Given the description of an element on the screen output the (x, y) to click on. 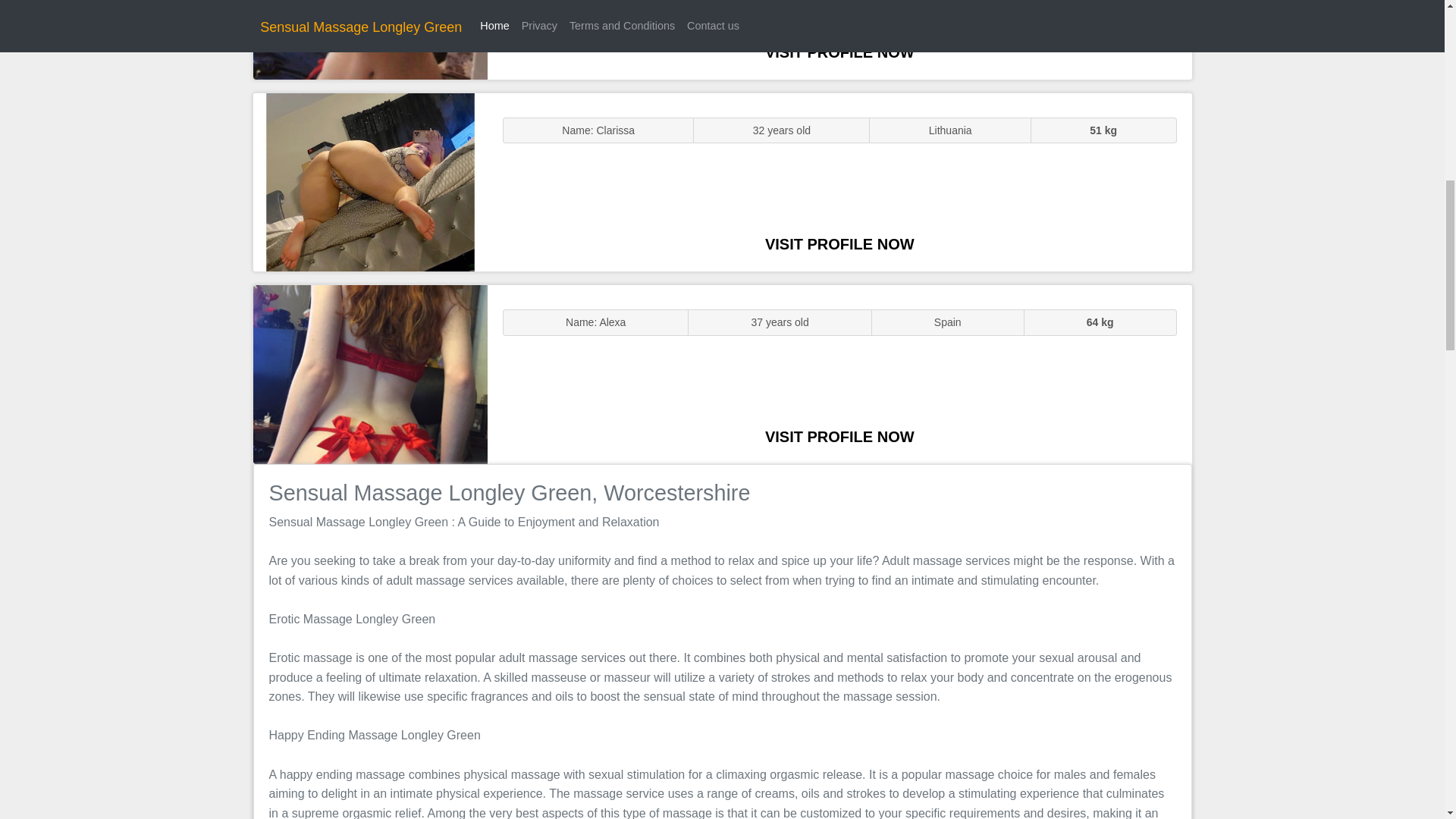
Sluts (370, 182)
Massage (370, 374)
VISIT PROFILE NOW (839, 243)
Sluts (370, 39)
VISIT PROFILE NOW (839, 436)
VISIT PROFILE NOW (839, 52)
